Given the description of an element on the screen output the (x, y) to click on. 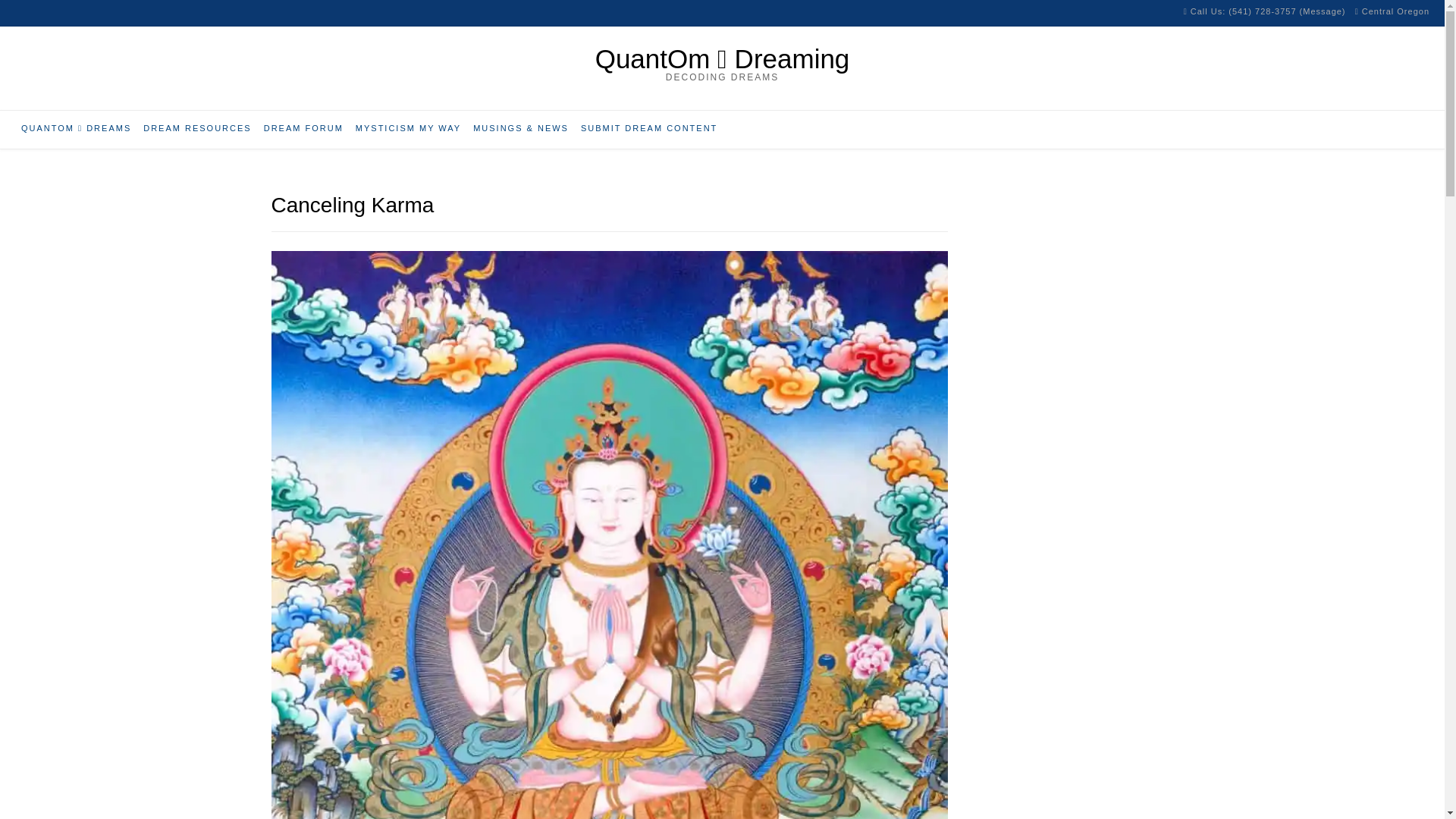
DREAM RESOURCES (196, 129)
MYSTICISM MY WAY (408, 129)
SUBMIT DREAM CONTENT (649, 129)
DREAM FORUM (303, 129)
